Given the description of an element on the screen output the (x, y) to click on. 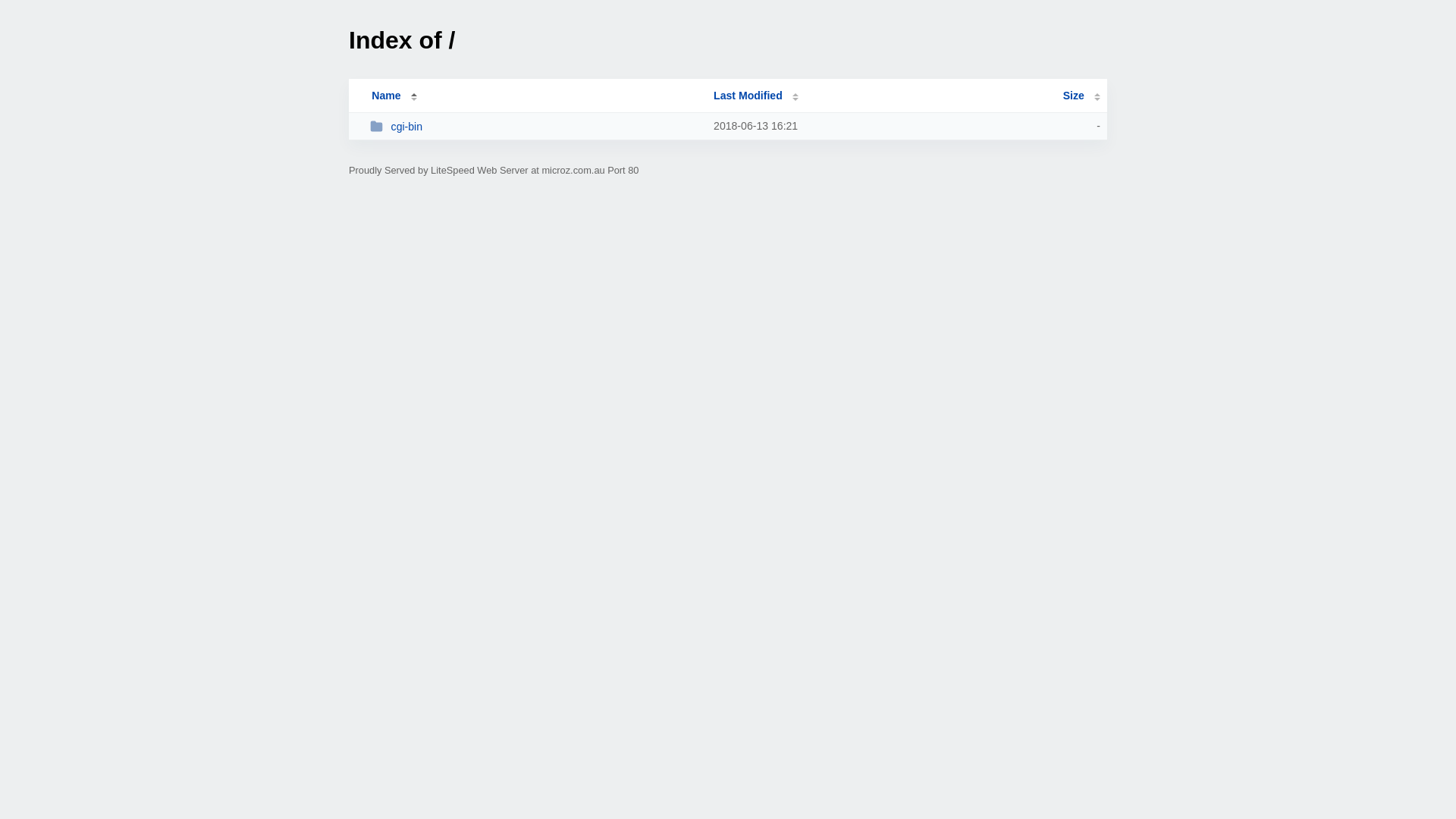
Name Element type: text (385, 95)
Last Modified Element type: text (755, 95)
cgi-bin Element type: text (534, 125)
Size Element type: text (1081, 95)
